Given the description of an element on the screen output the (x, y) to click on. 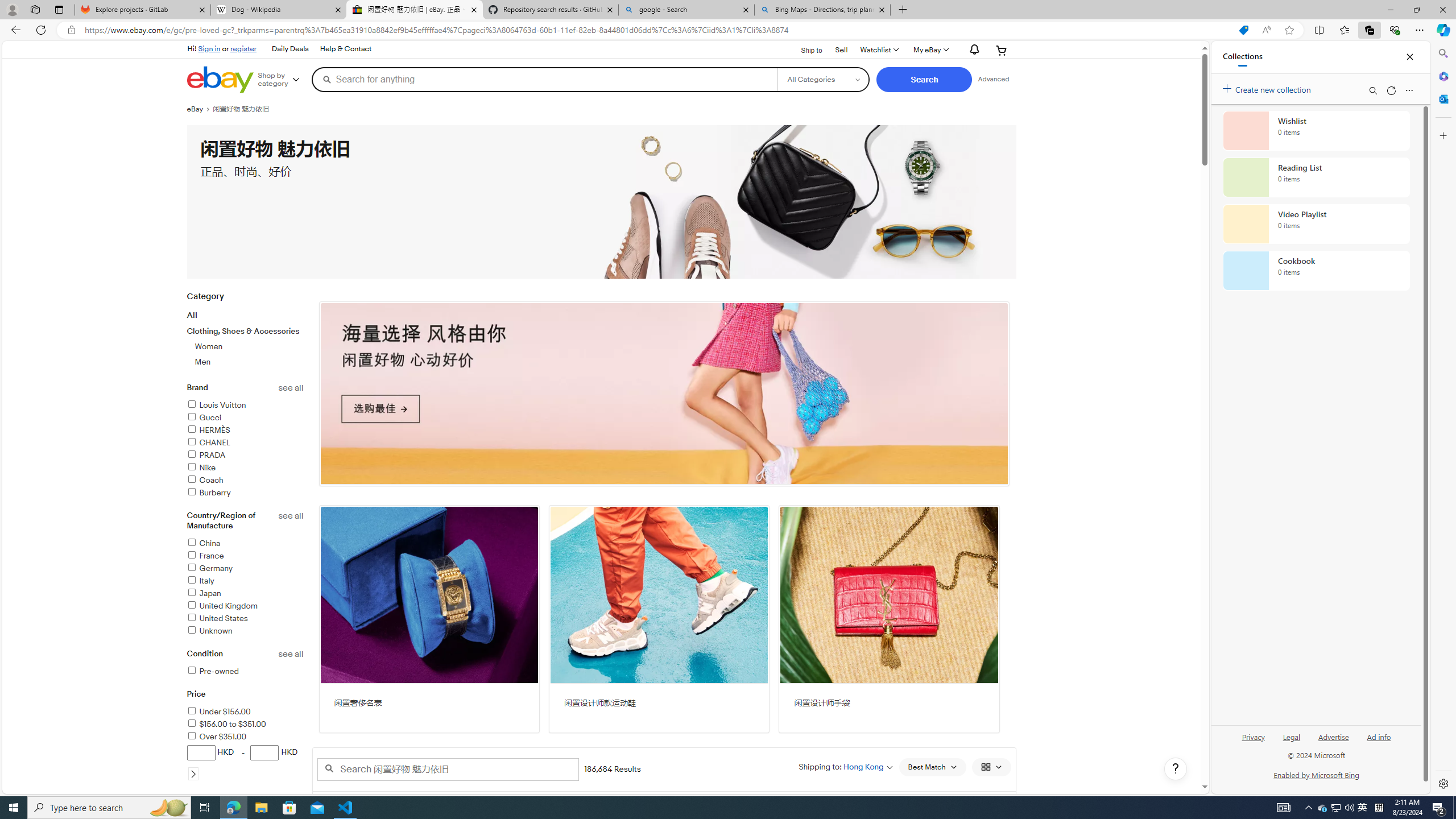
China (203, 542)
United Kingdom (245, 606)
WatchlistExpand Watch List (878, 49)
Men (203, 361)
243 (663, 393)
